Given the description of an element on the screen output the (x, y) to click on. 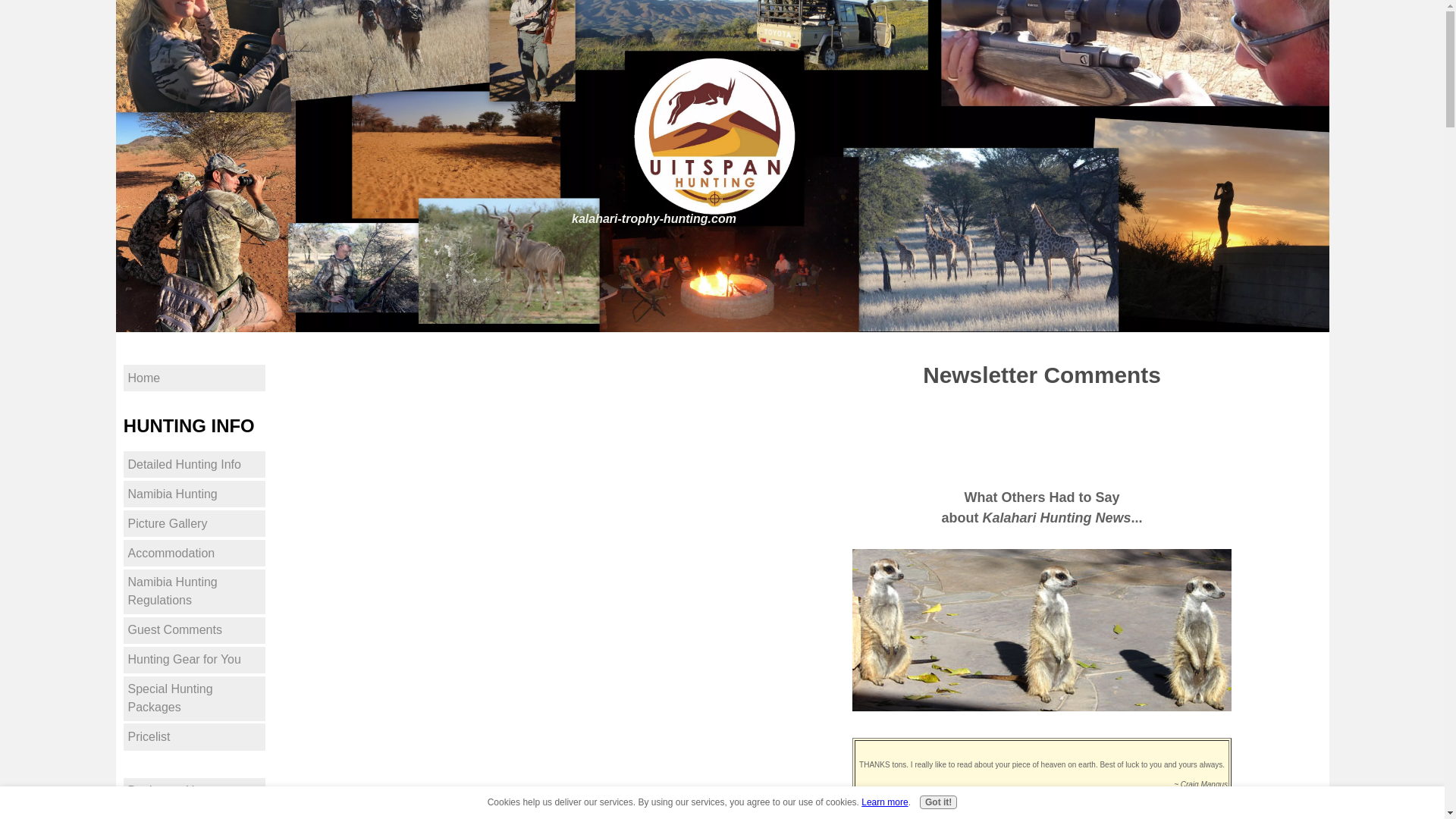
Namibia Hunting Regulations (193, 591)
kalahari-trophy-hunting.com (653, 218)
Kalahari Meerkats (1041, 629)
Accommodation (193, 552)
Picture Gallery (193, 523)
Hunting Gear for You (193, 660)
Advertisement (1042, 435)
Guest Comments (193, 630)
Detailed Hunting Info (193, 464)
Special Hunting Packages (193, 698)
Pricelist (193, 736)
Book your Hunt (193, 791)
Home (193, 377)
Namibia Hunting (193, 493)
